Given the description of an element on the screen output the (x, y) to click on. 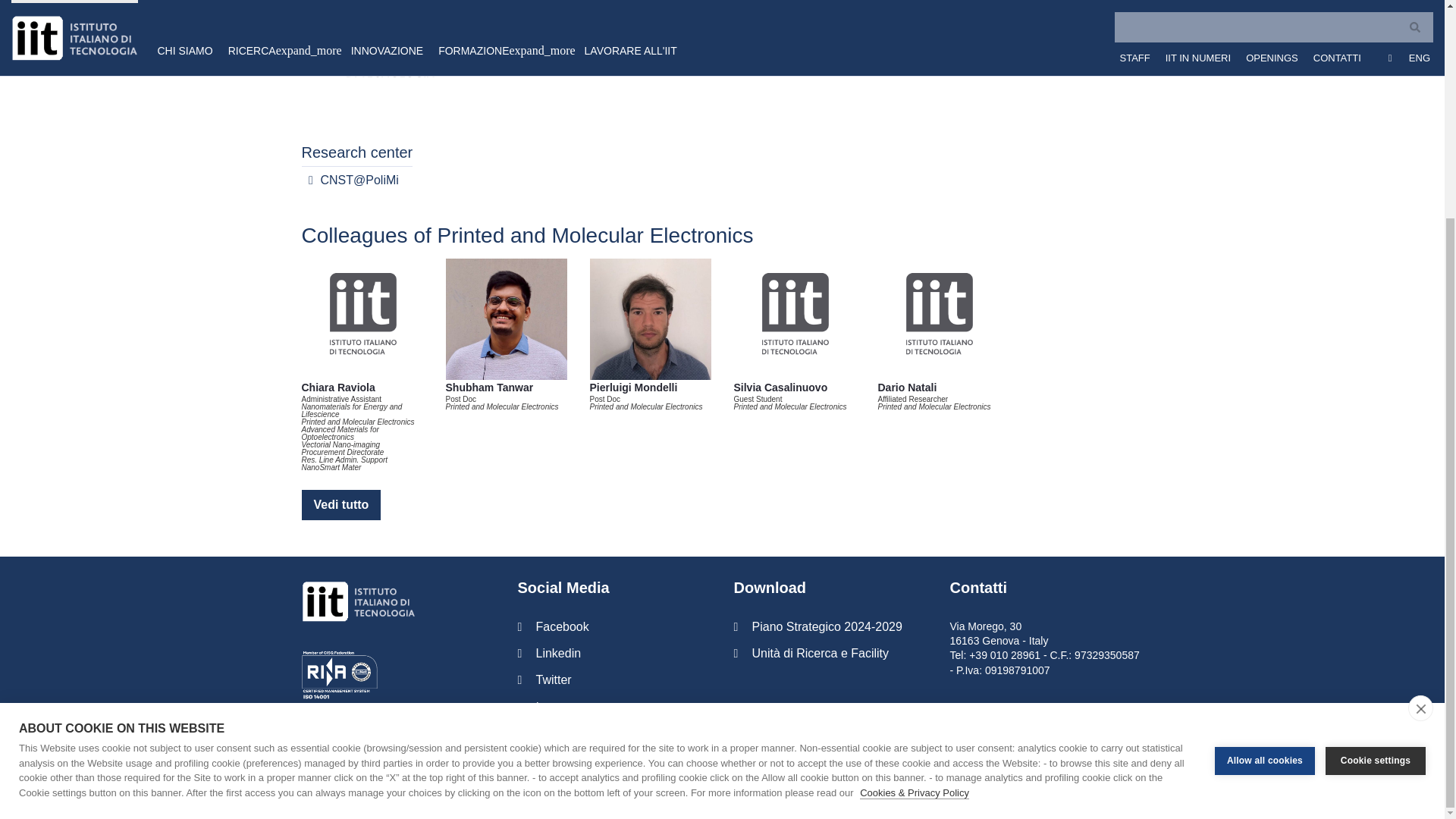
Twitter (613, 679)
Vedi tutto (341, 504)
Piano Strategico 2024-2029 (830, 626)
Instagram (613, 707)
Facebook (613, 626)
Linkedin (613, 653)
Youtube (613, 733)
